Given the description of an element on the screen output the (x, y) to click on. 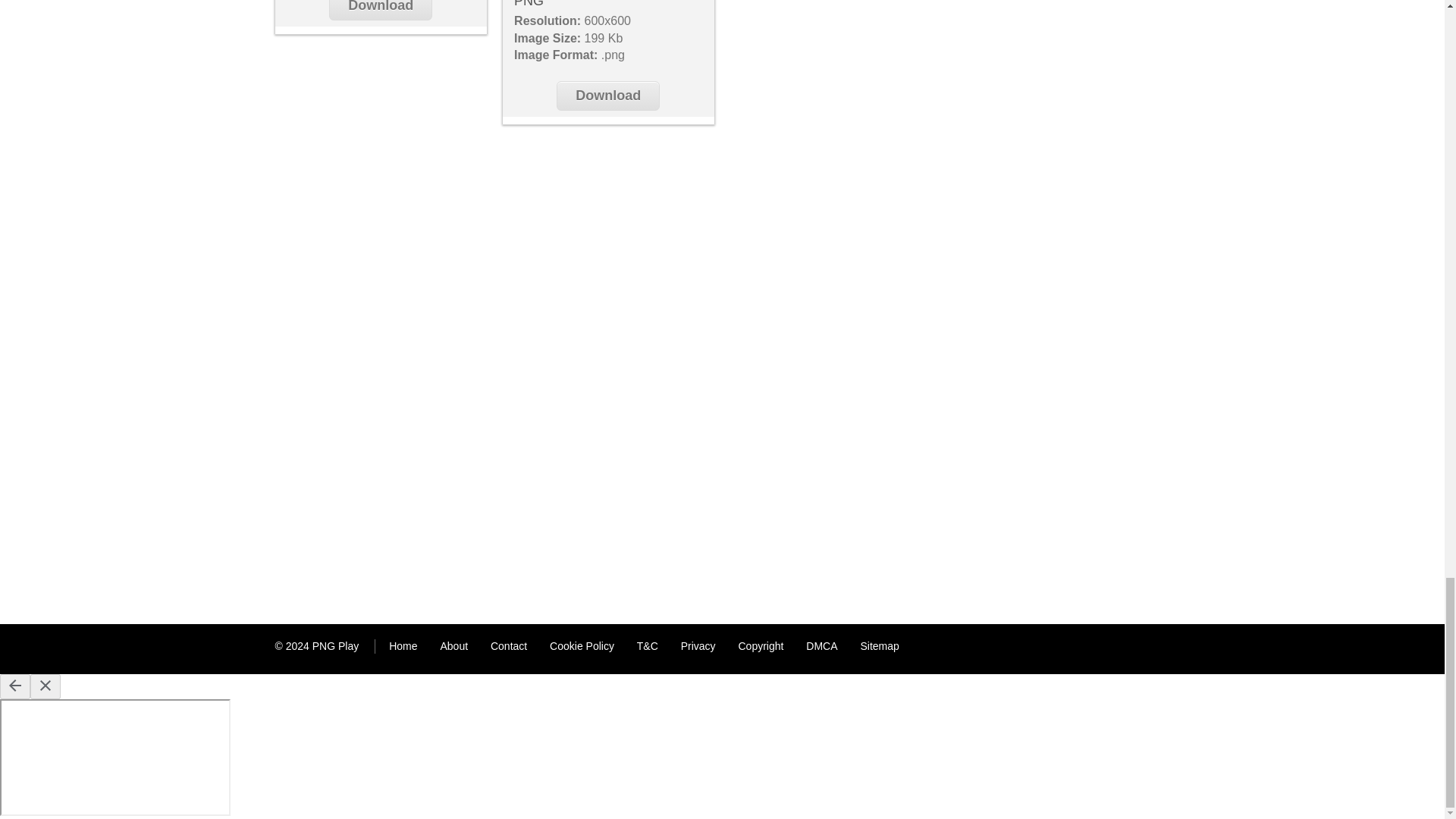
Sidney Poitier Transparent PNG (594, 4)
Download (380, 10)
PNG Play (335, 645)
